Given the description of an element on the screen output the (x, y) to click on. 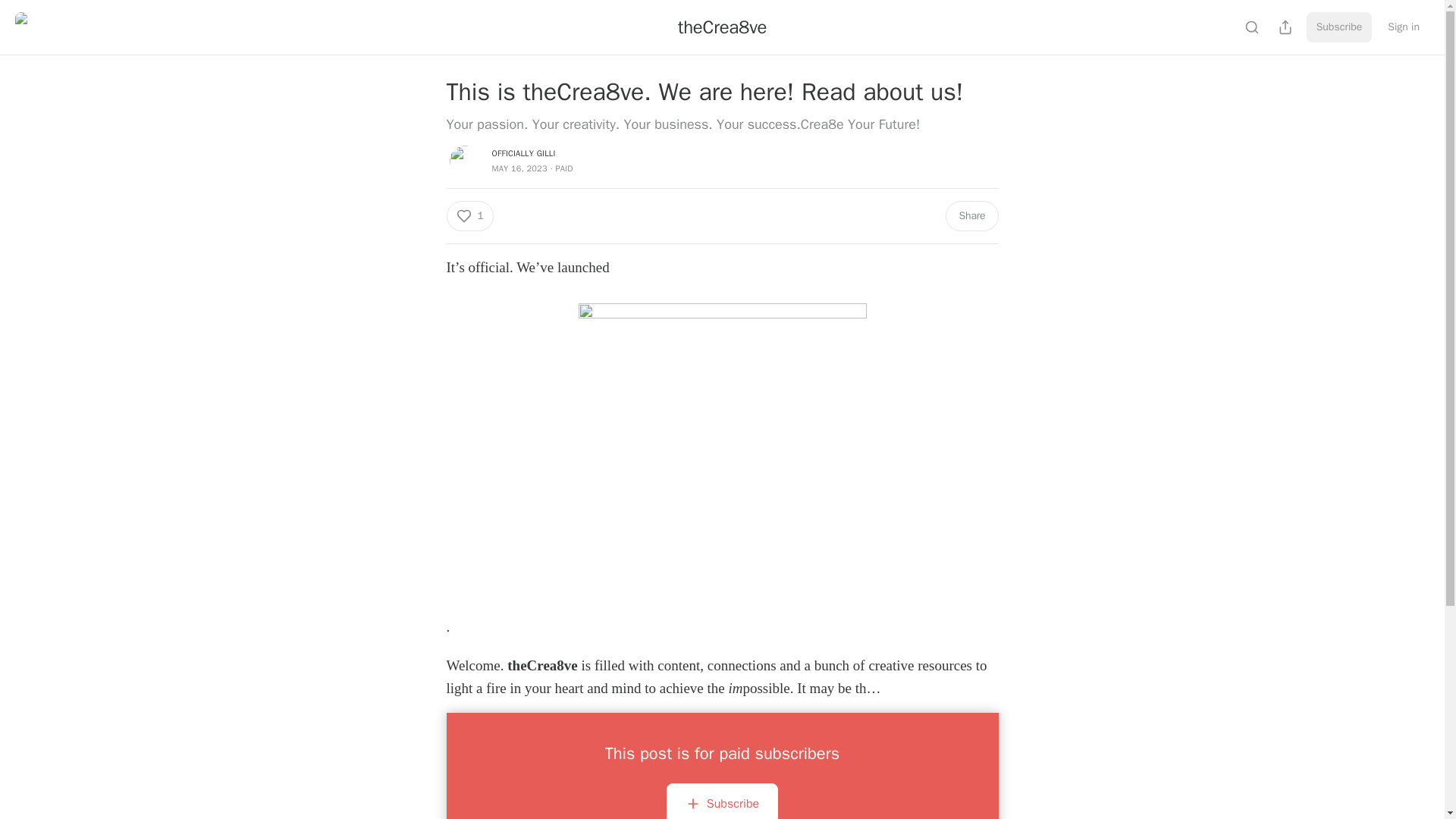
Sign in (1403, 27)
Subscribe (721, 800)
Share (970, 215)
OFFICIALLY GILLI (523, 153)
Subscribe (1339, 27)
1 (469, 215)
Subscribe (721, 806)
theCrea8ve (722, 26)
